Given the description of an element on the screen output the (x, y) to click on. 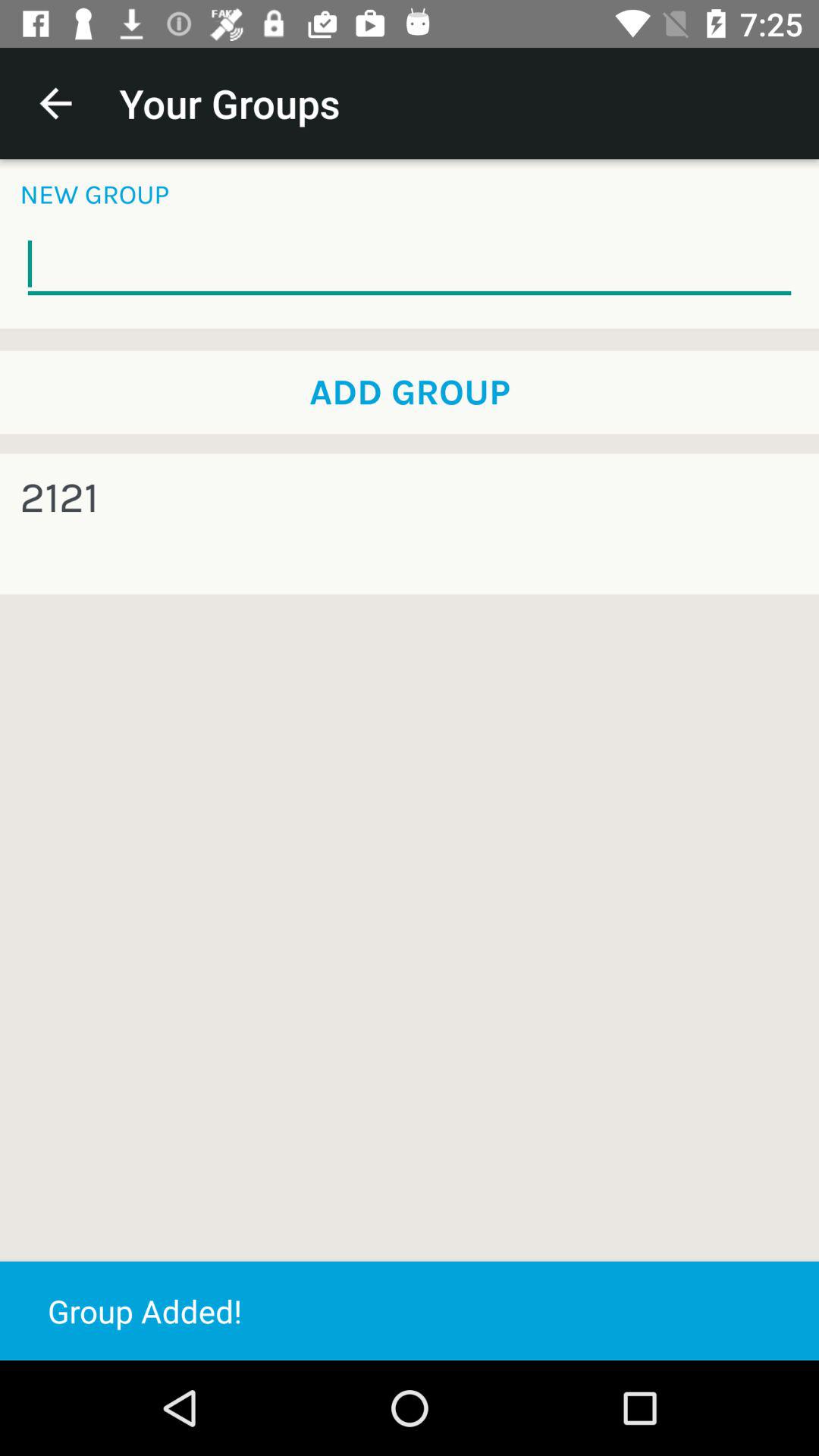
launch icon to the left of your groups app (55, 103)
